Given the description of an element on the screen output the (x, y) to click on. 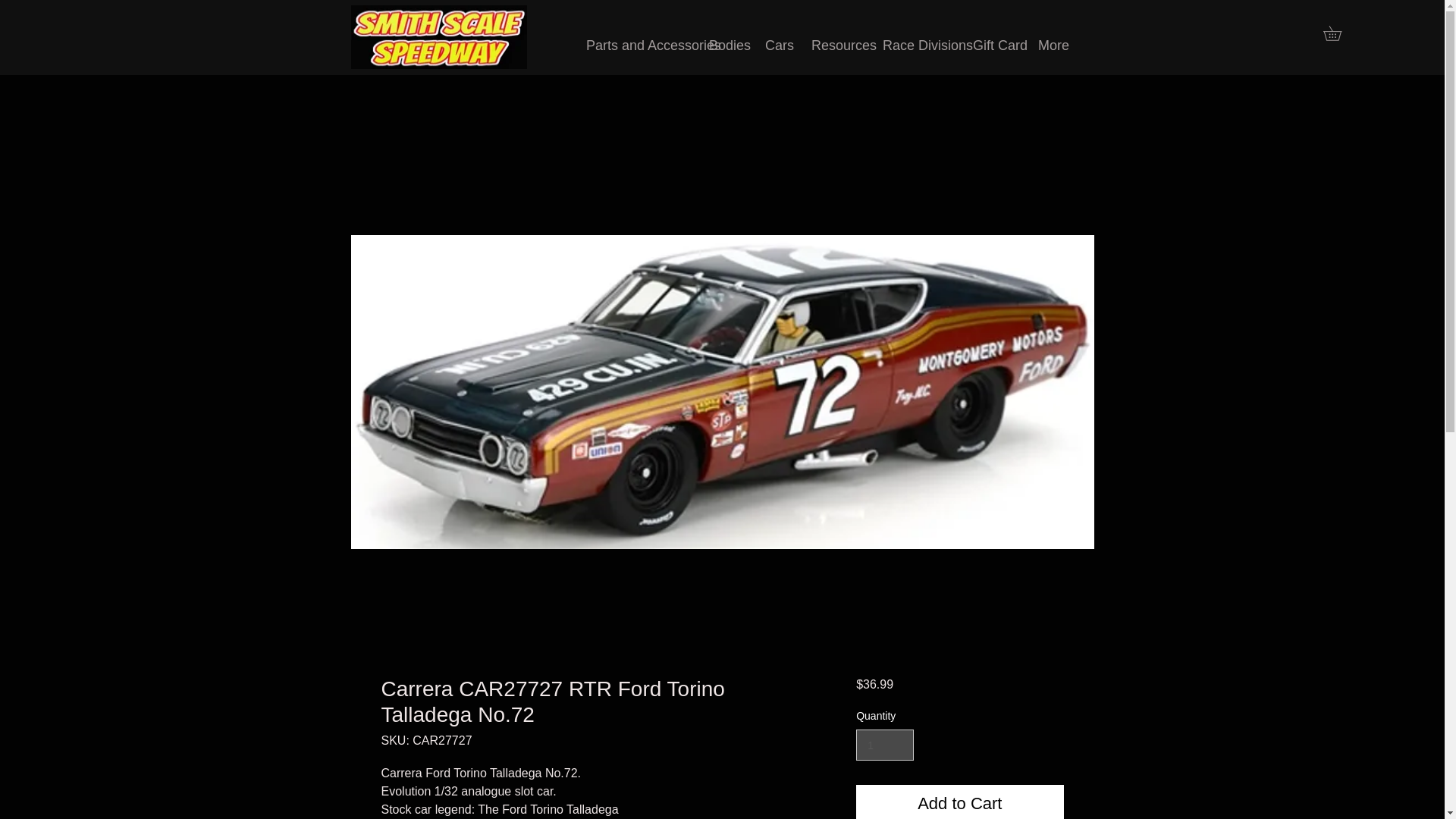
Race Divisions (915, 45)
1 (885, 744)
Bodies (725, 45)
